Given the description of an element on the screen output the (x, y) to click on. 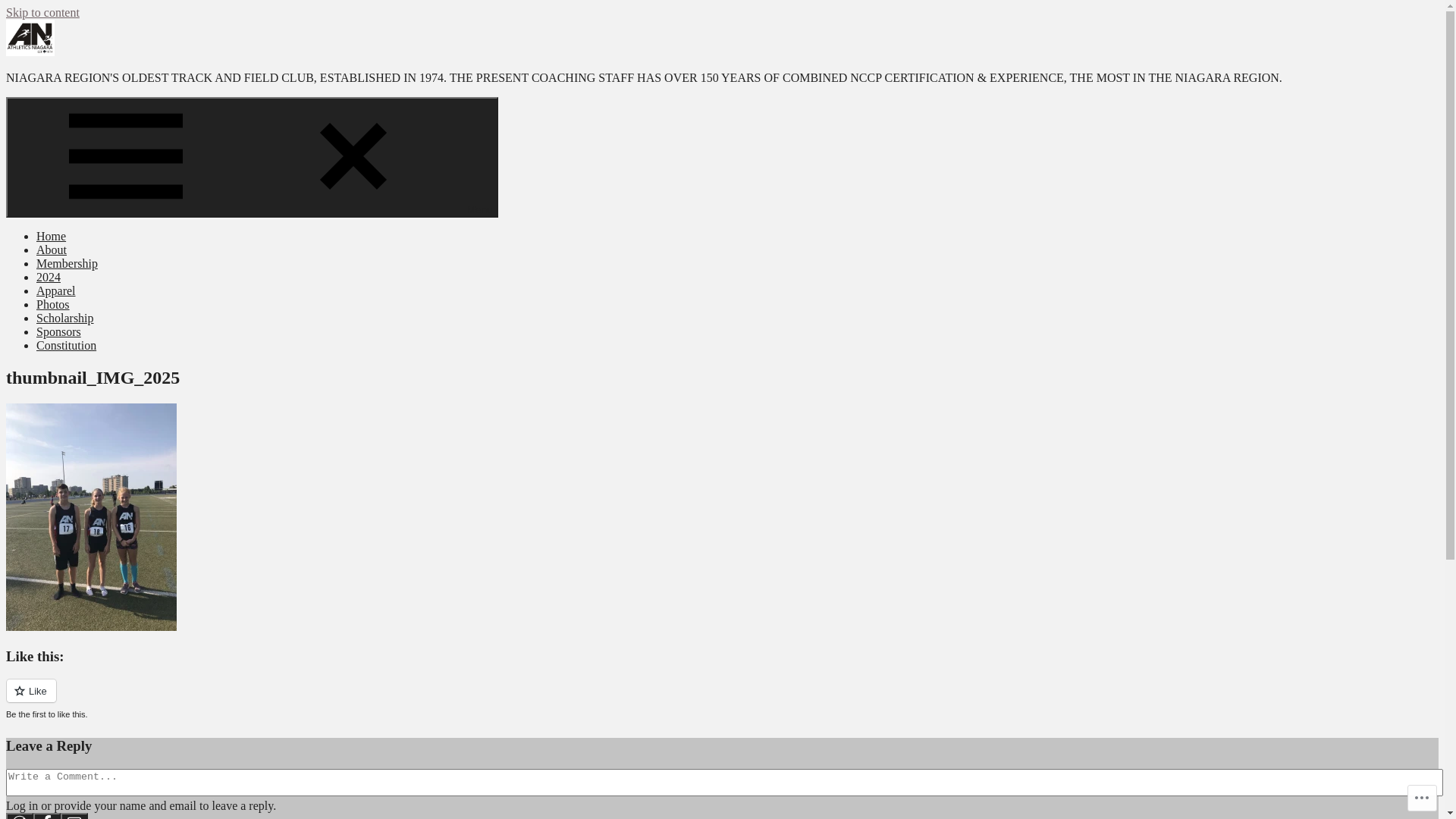
Scholarship Element type: text (65, 317)
Apparel Element type: text (55, 290)
2024 Element type: text (48, 276)
Menu Element type: text (252, 157)
Home Element type: text (50, 235)
About Element type: text (51, 249)
Sponsors Element type: text (58, 331)
Skip to content Element type: text (42, 12)
Membership Element type: text (66, 263)
Photos Element type: text (52, 304)
Constitution Element type: text (66, 344)
Like or Reblog Element type: hover (722, 699)
